Given the description of an element on the screen output the (x, y) to click on. 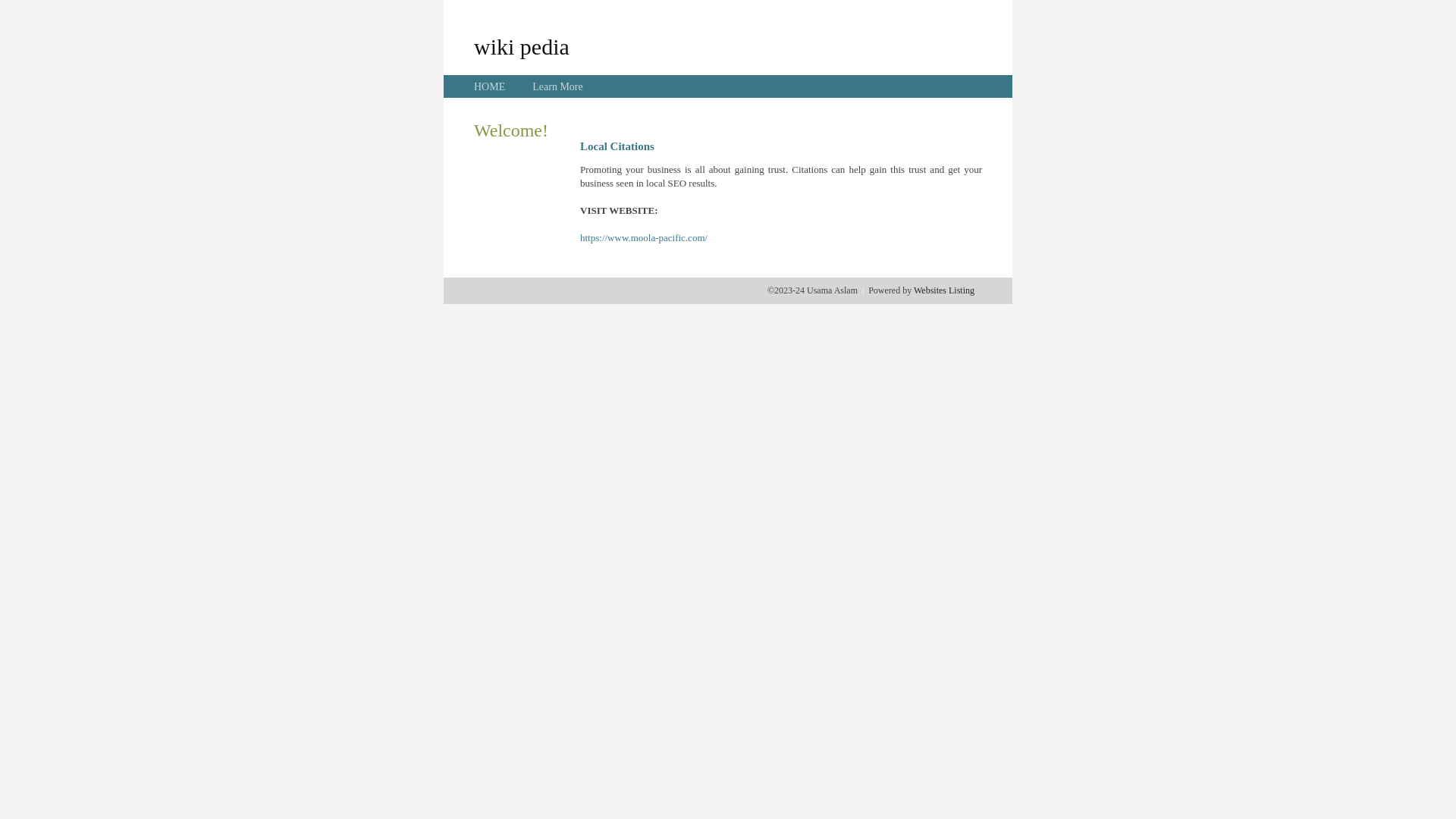
https://www.moola-pacific.com/ Element type: text (643, 237)
HOME Element type: text (489, 86)
Websites Listing Element type: text (943, 290)
wiki pedia Element type: text (521, 46)
Learn More Element type: text (557, 86)
